Given the description of an element on the screen output the (x, y) to click on. 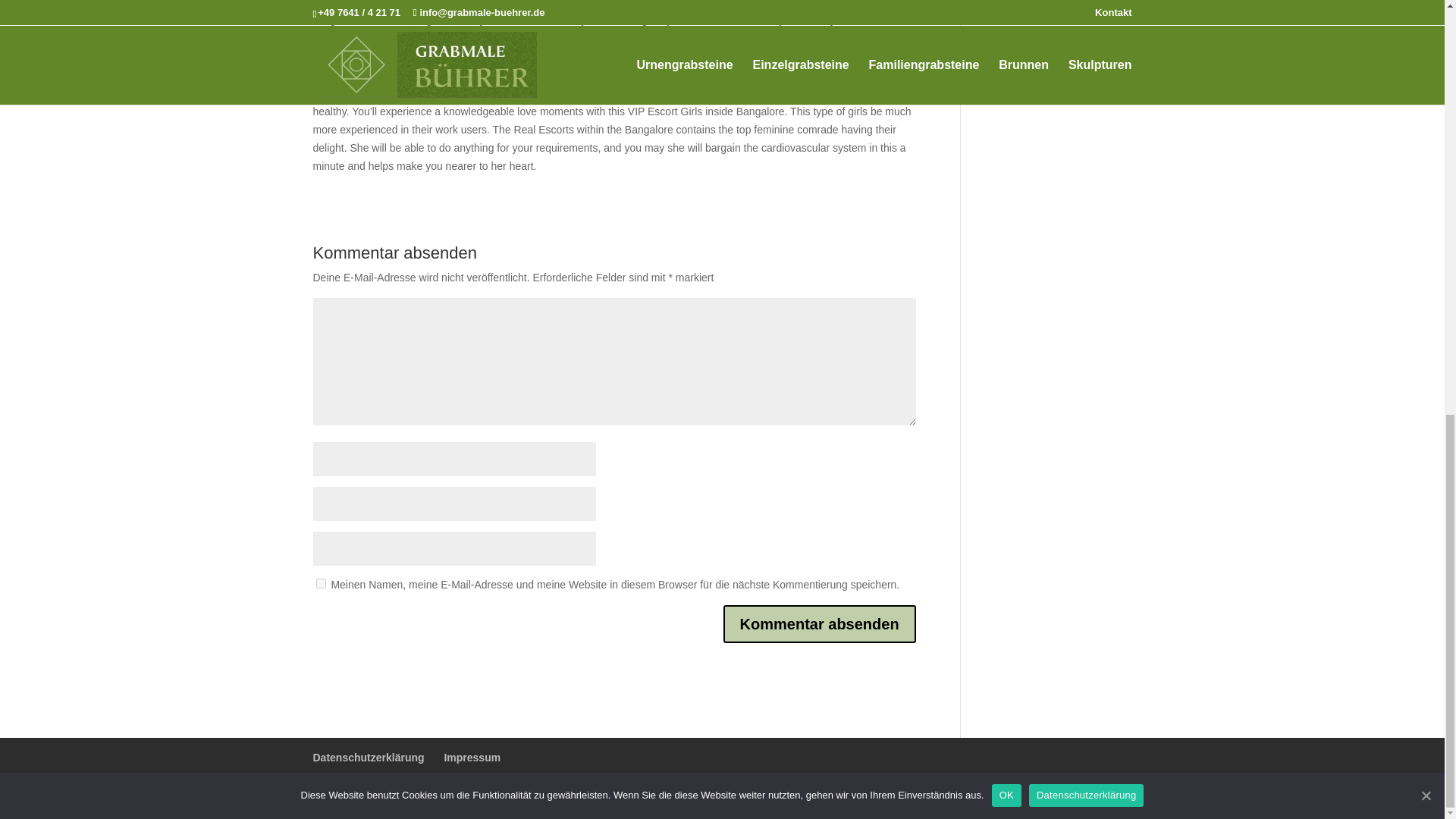
Impressum (472, 757)
Kommentar absenden (819, 623)
Kommentar absenden (819, 623)
yes (319, 583)
